Given the description of an element on the screen output the (x, y) to click on. 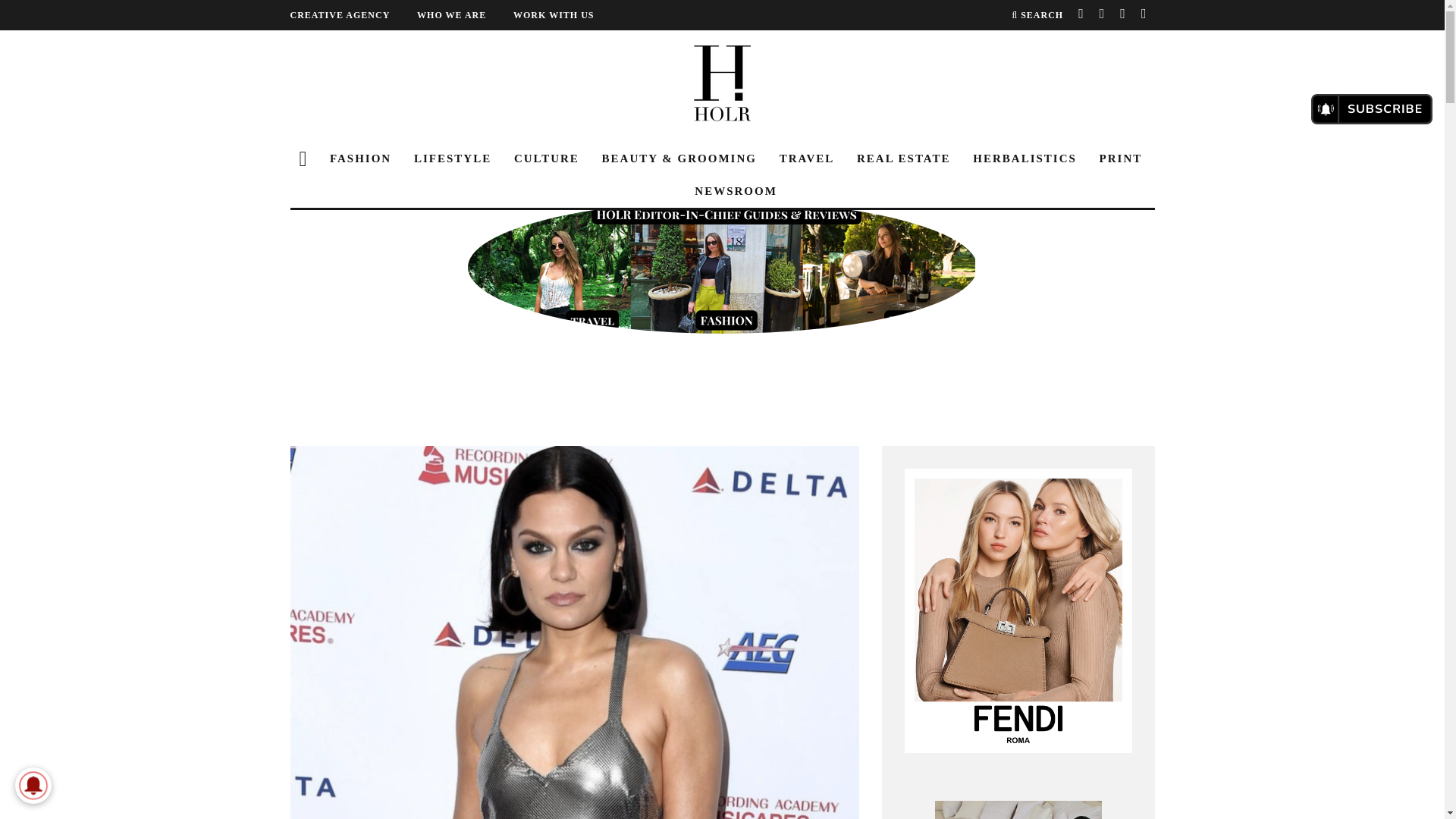
WHO WE ARE (463, 14)
Search (1036, 15)
CREATIVE AGENCY (351, 14)
SEARCH (1036, 15)
WORK WITH US (565, 14)
